Given the description of an element on the screen output the (x, y) to click on. 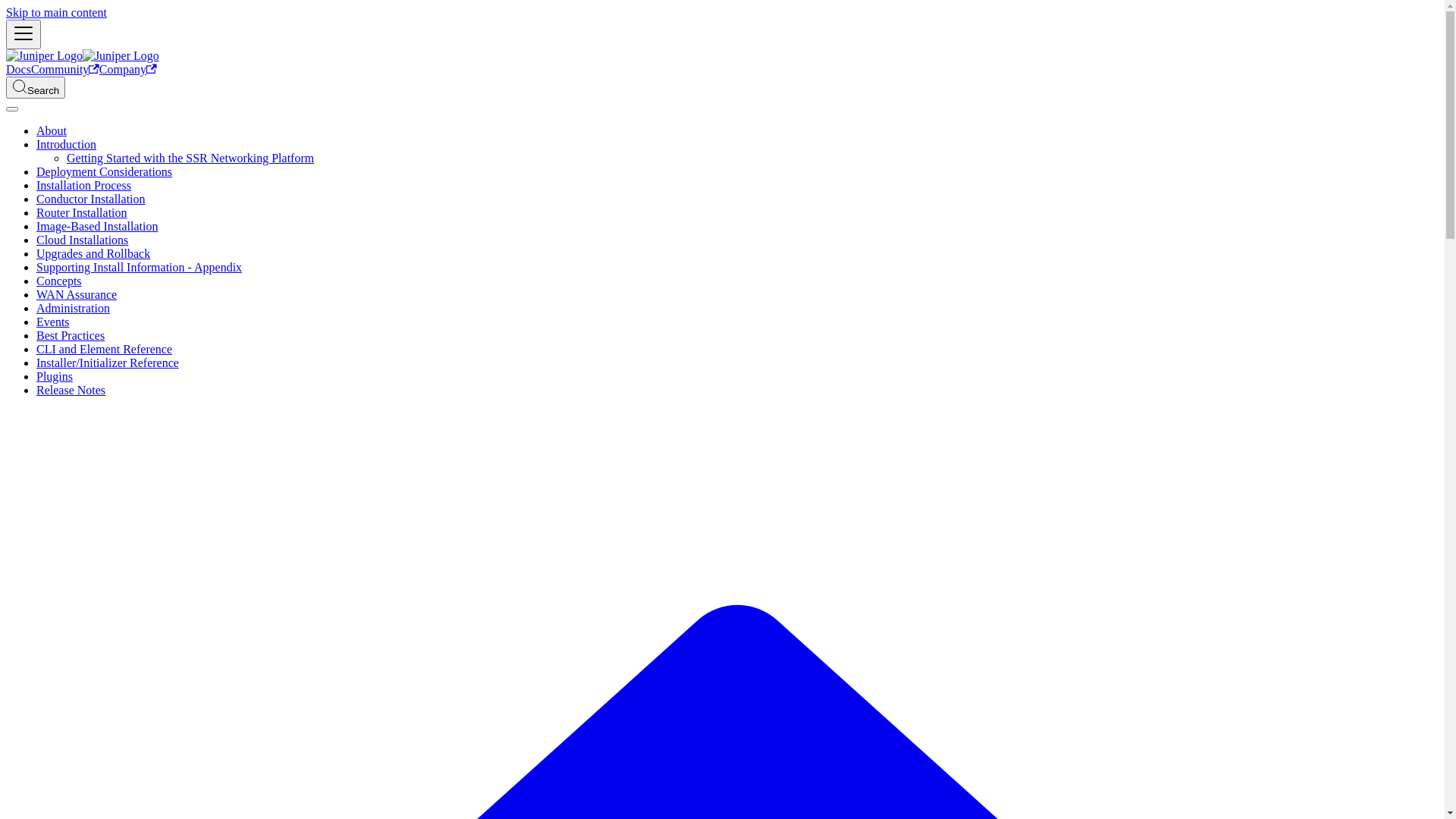
Installer/Initializer Reference Element type: text (107, 362)
WAN Assurance Element type: text (76, 294)
About Element type: text (51, 130)
Events Element type: text (52, 321)
Administration Element type: text (72, 307)
Deployment Considerations Element type: text (104, 171)
Introduction Element type: text (66, 144)
Release Notes Element type: text (70, 389)
Skip to main content Element type: text (56, 12)
Router Installation Element type: text (81, 212)
Company Element type: text (127, 68)
Supporting Install Information - Appendix Element type: text (138, 266)
Upgrades and Rollback Element type: text (93, 253)
Conductor Installation Element type: text (90, 198)
Getting Started with the SSR Networking Platform Element type: text (189, 157)
Cloud Installations Element type: text (82, 239)
Search Element type: text (35, 87)
CLI and Element Reference Element type: text (104, 348)
Docs Element type: text (18, 68)
Installation Process Element type: text (83, 184)
Community Element type: text (65, 68)
Image-Based Installation Element type: text (96, 225)
Best Practices Element type: text (70, 335)
Plugins Element type: text (54, 376)
Concepts Element type: text (58, 280)
